Given the description of an element on the screen output the (x, y) to click on. 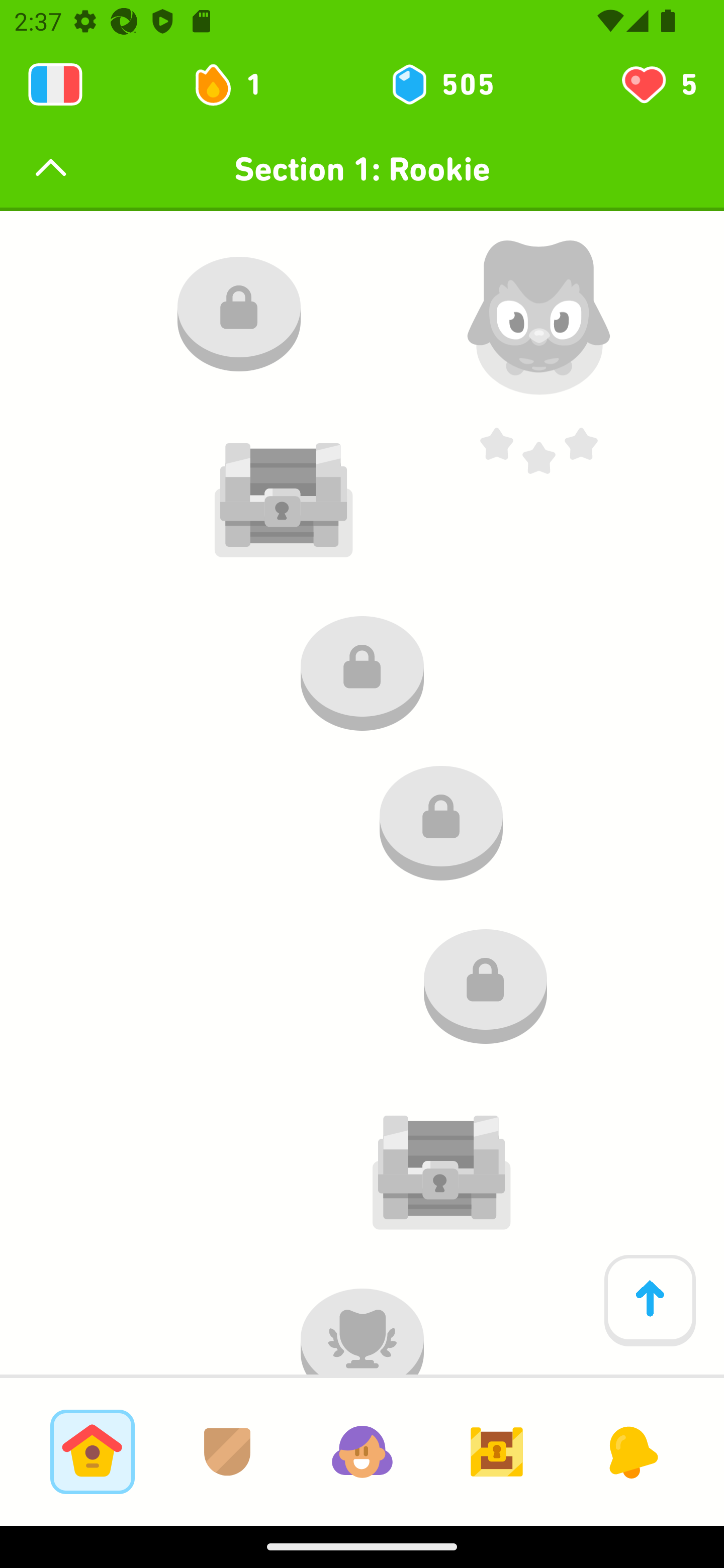
Learning 2131888976 (55, 84)
1 day streak 1 (236, 84)
505 (441, 84)
You have 5 hearts left 5 (657, 84)
Section 1: Rookie (362, 169)
Learn Tab (91, 1451)
Leagues Tab (227, 1451)
Profile Tab (361, 1451)
Goals Tab (496, 1451)
News Tab (631, 1451)
